Given the description of an element on the screen output the (x, y) to click on. 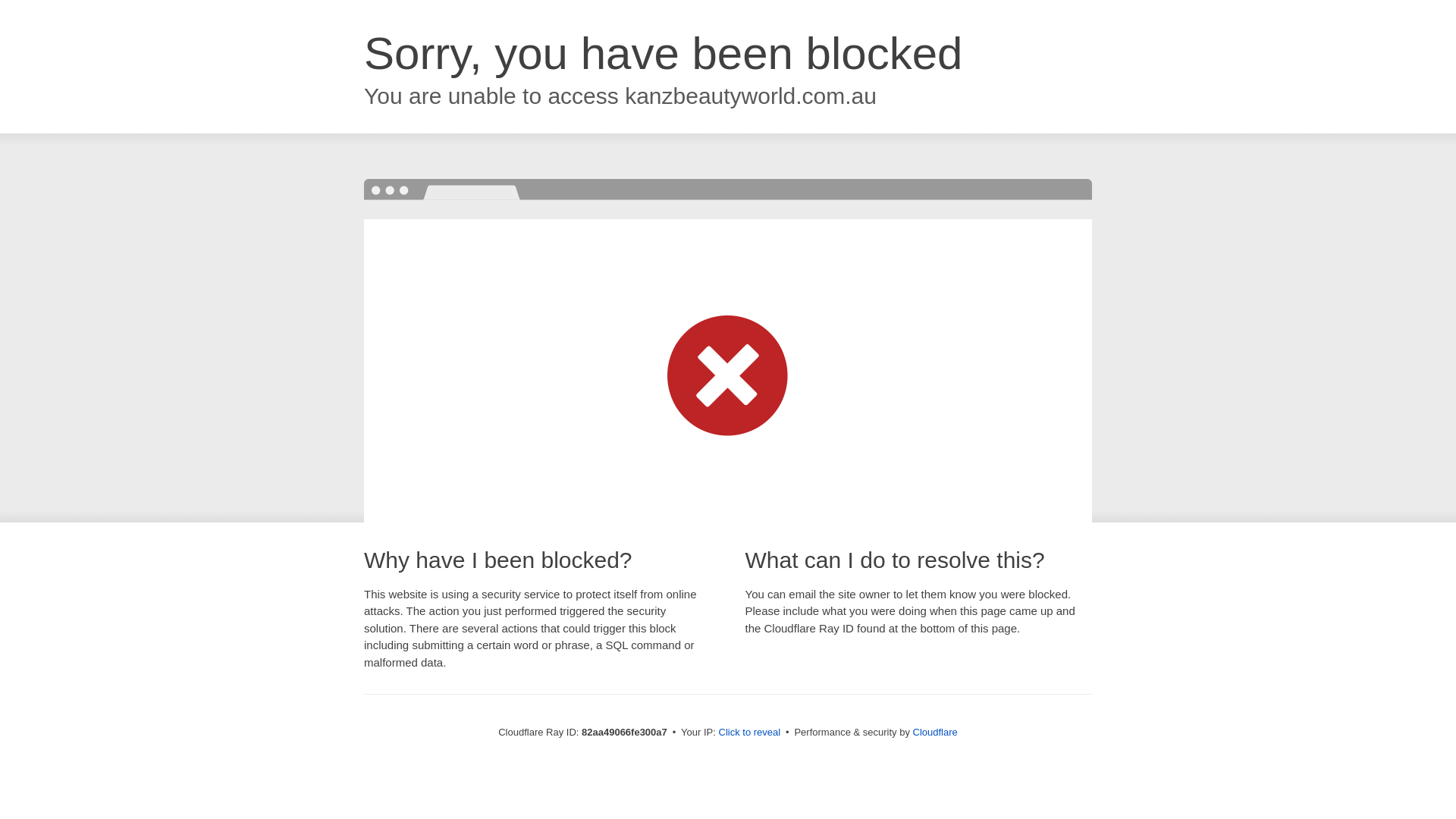
Click to reveal Element type: text (749, 732)
Cloudflare Element type: text (935, 731)
